Given the description of an element on the screen output the (x, y) to click on. 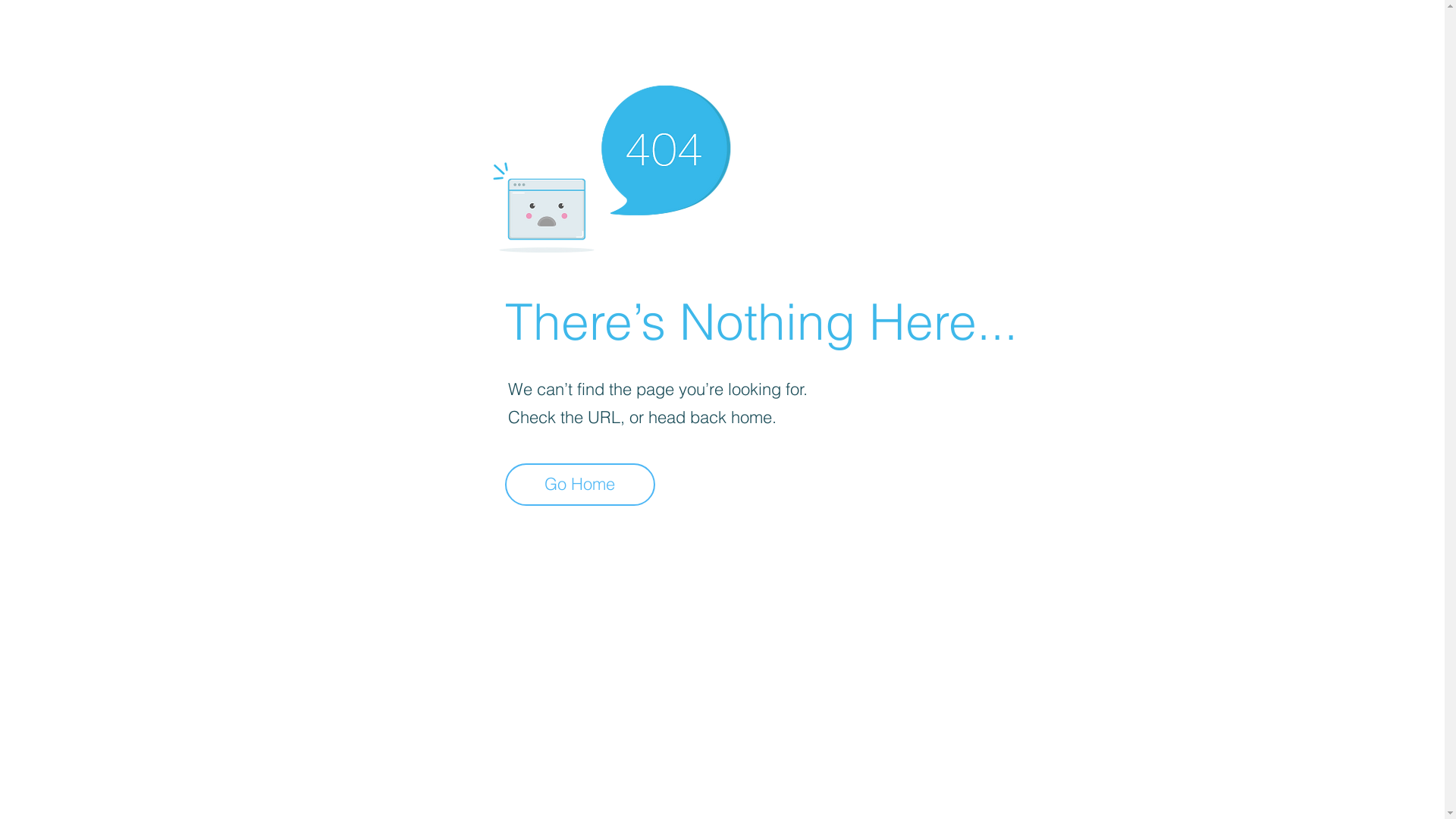
404-icon_2.png Element type: hover (610, 164)
Go Home Element type: text (580, 484)
